Given the description of an element on the screen output the (x, y) to click on. 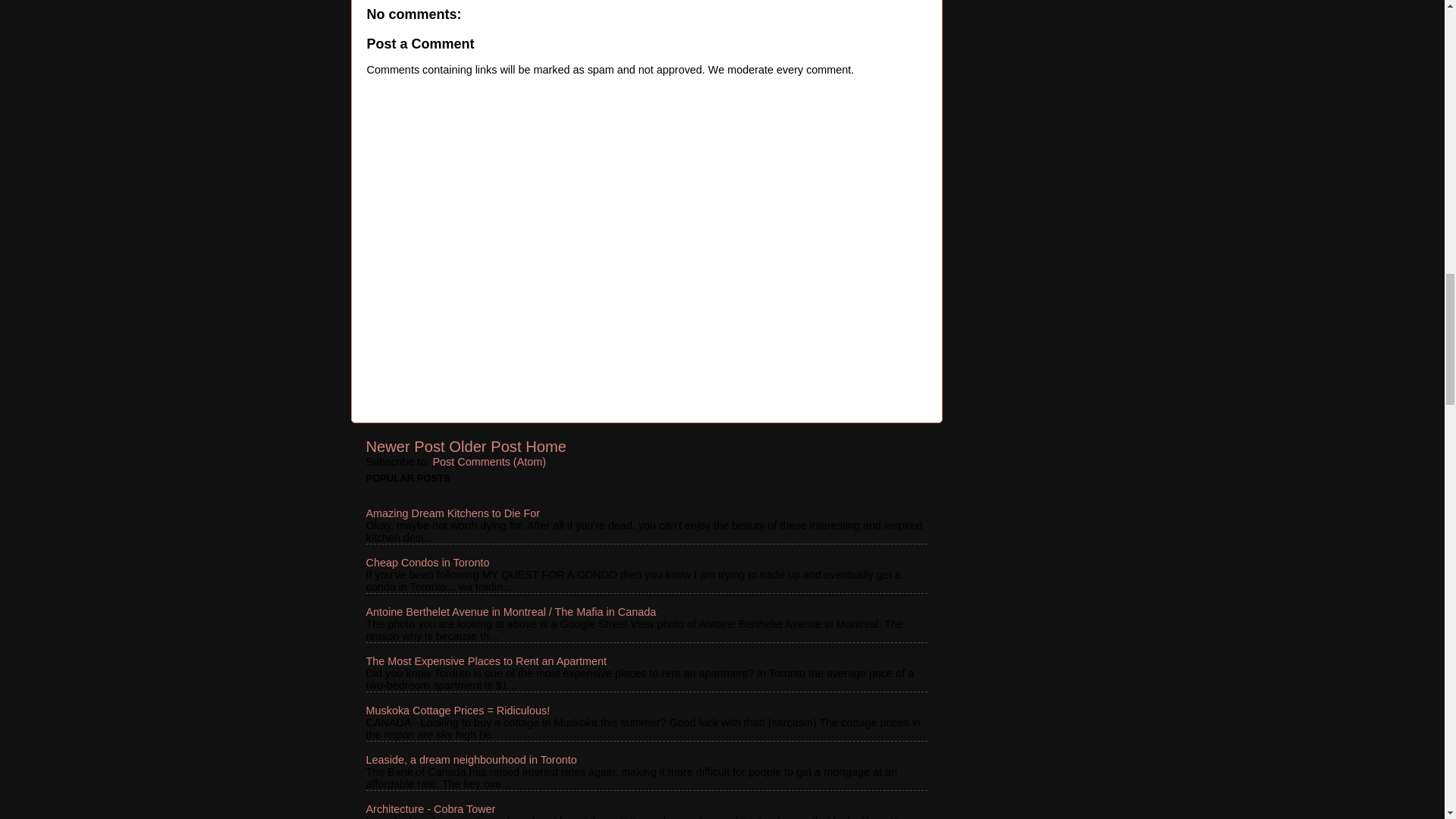
Newer Post (404, 446)
Older Post (484, 446)
